Given the description of an element on the screen output the (x, y) to click on. 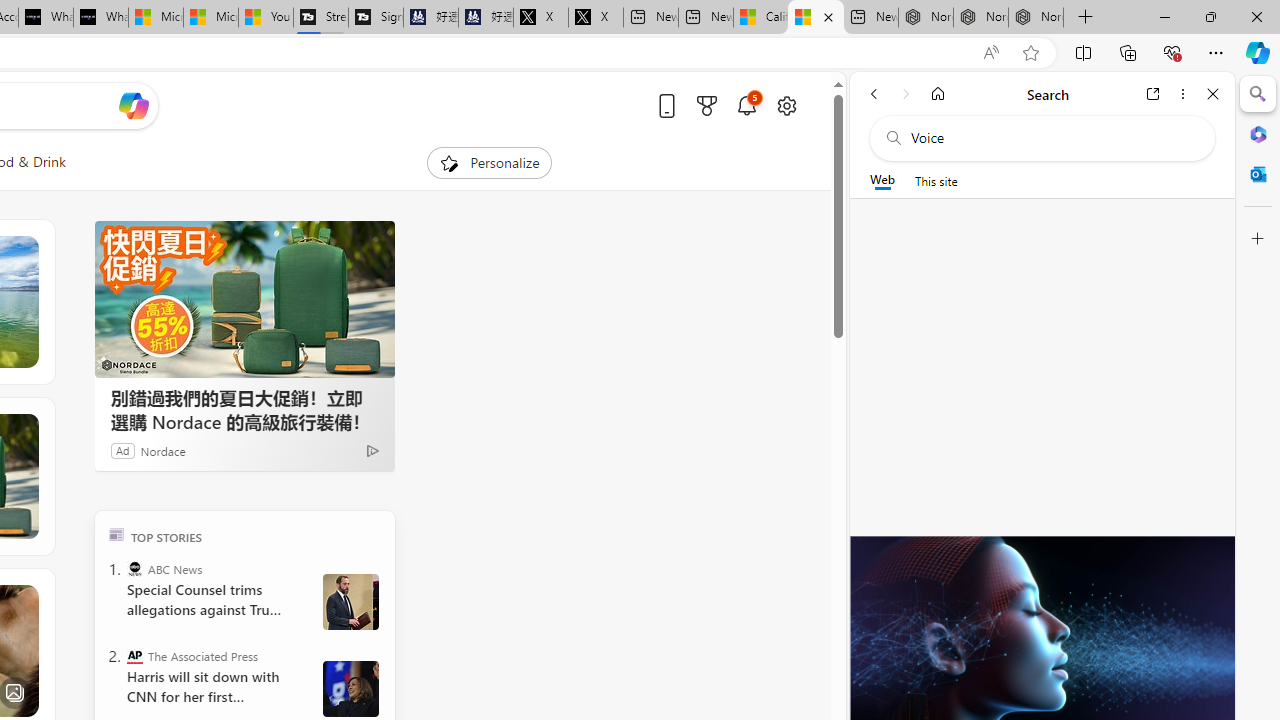
TOP (116, 534)
